Given the description of an element on the screen output the (x, y) to click on. 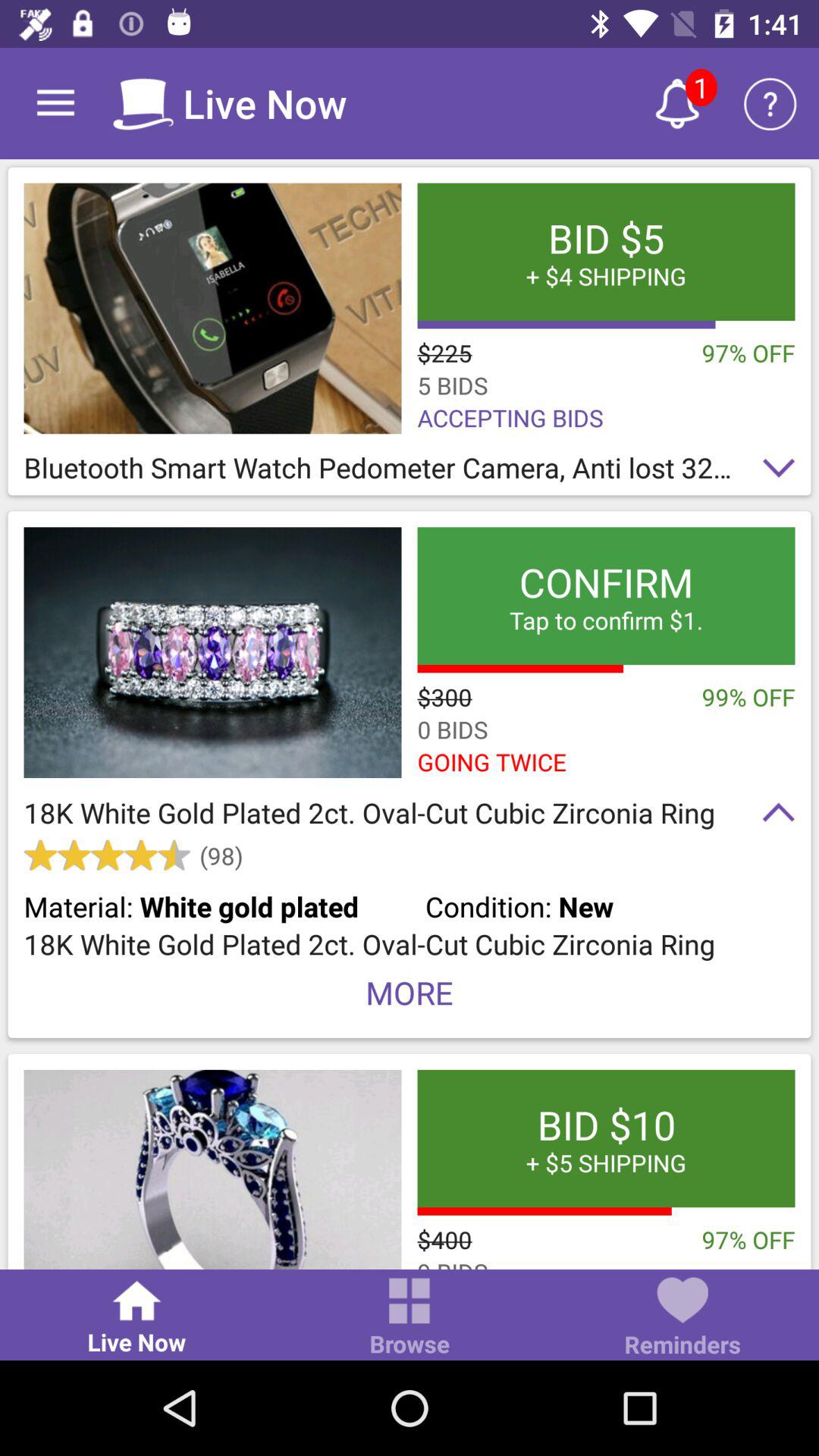
product selection (212, 1169)
